Given the description of an element on the screen output the (x, y) to click on. 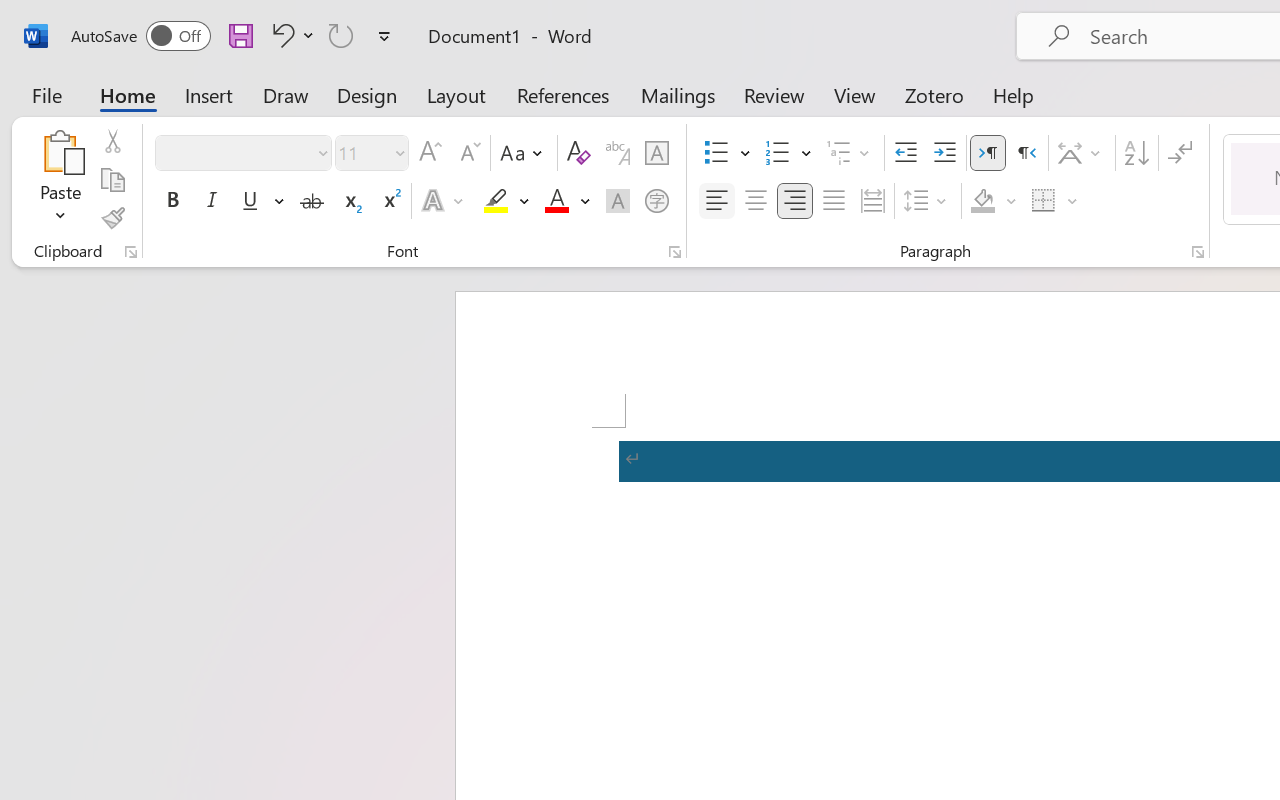
Font Color RGB(255, 0, 0) (556, 201)
